Given the description of an element on the screen output the (x, y) to click on. 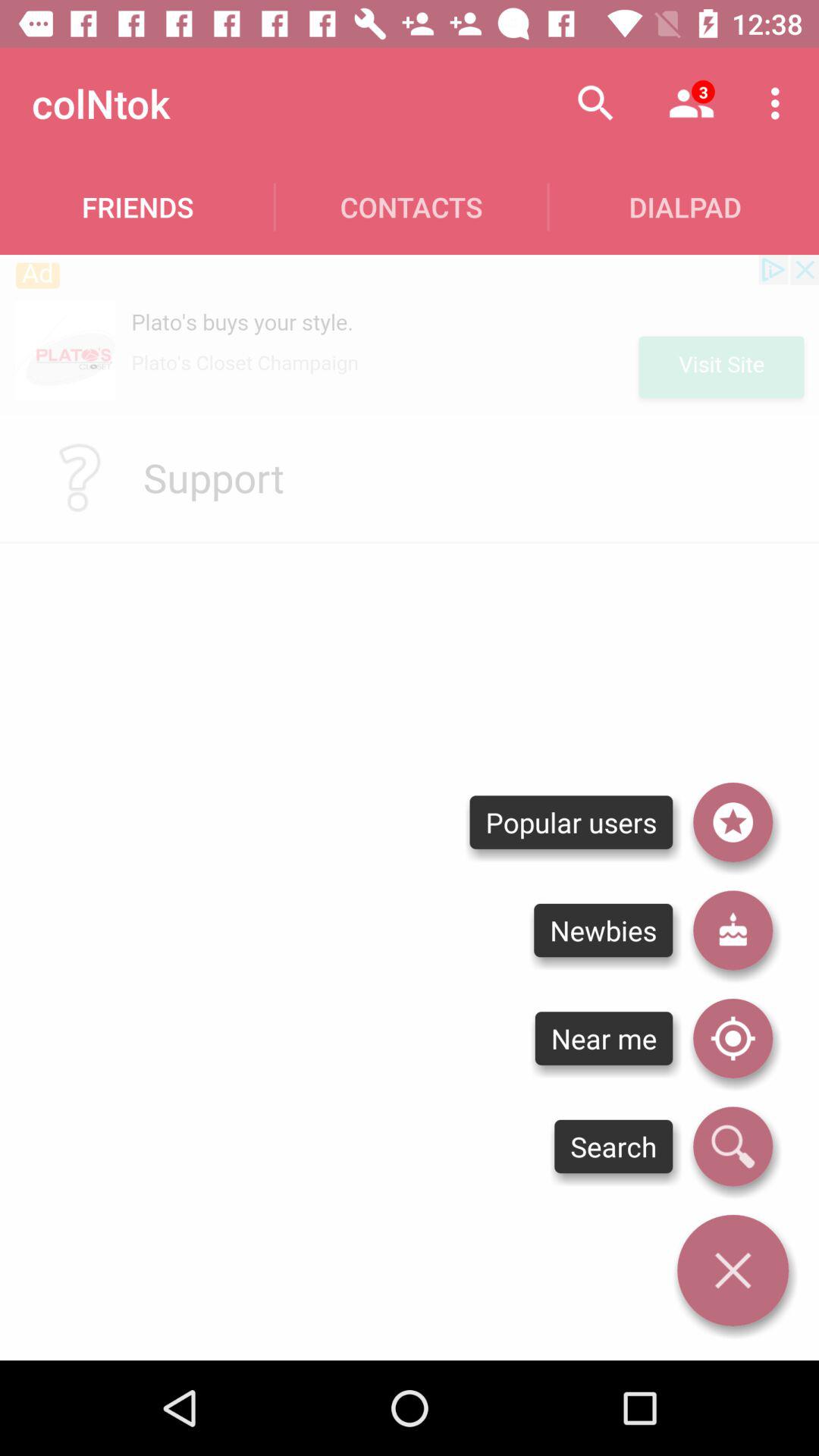
choose icon next to popular users (733, 822)
